Given the description of an element on the screen output the (x, y) to click on. 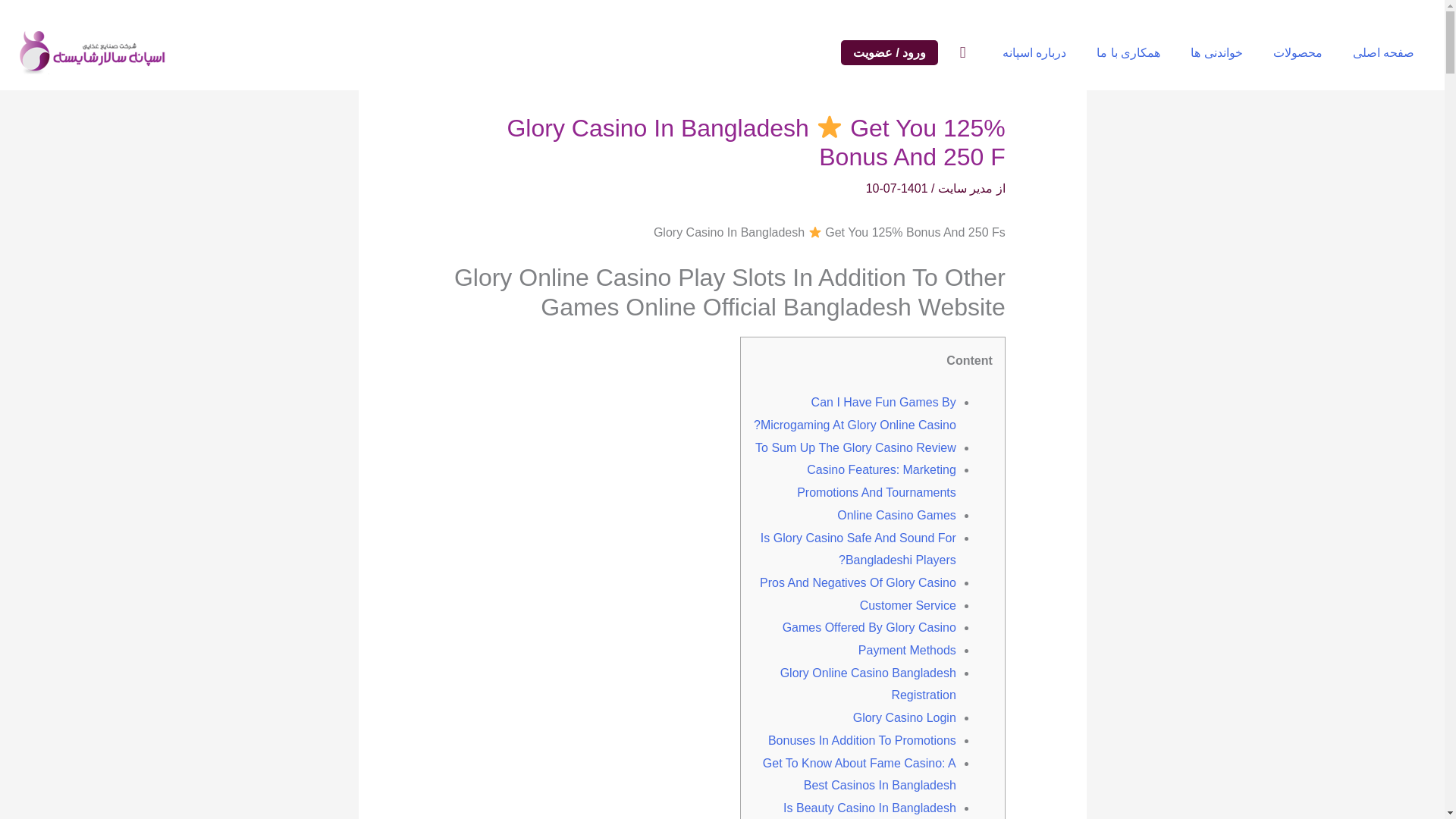
Online Casino Games (896, 514)
Casino Features: Marketing Promotions And Tournaments (876, 480)
To Sum Up The Glory Casino Review (855, 447)
Can I Have Fun Games By Microgaming At Glory Online Casino? (855, 413)
